Given the description of an element on the screen output the (x, y) to click on. 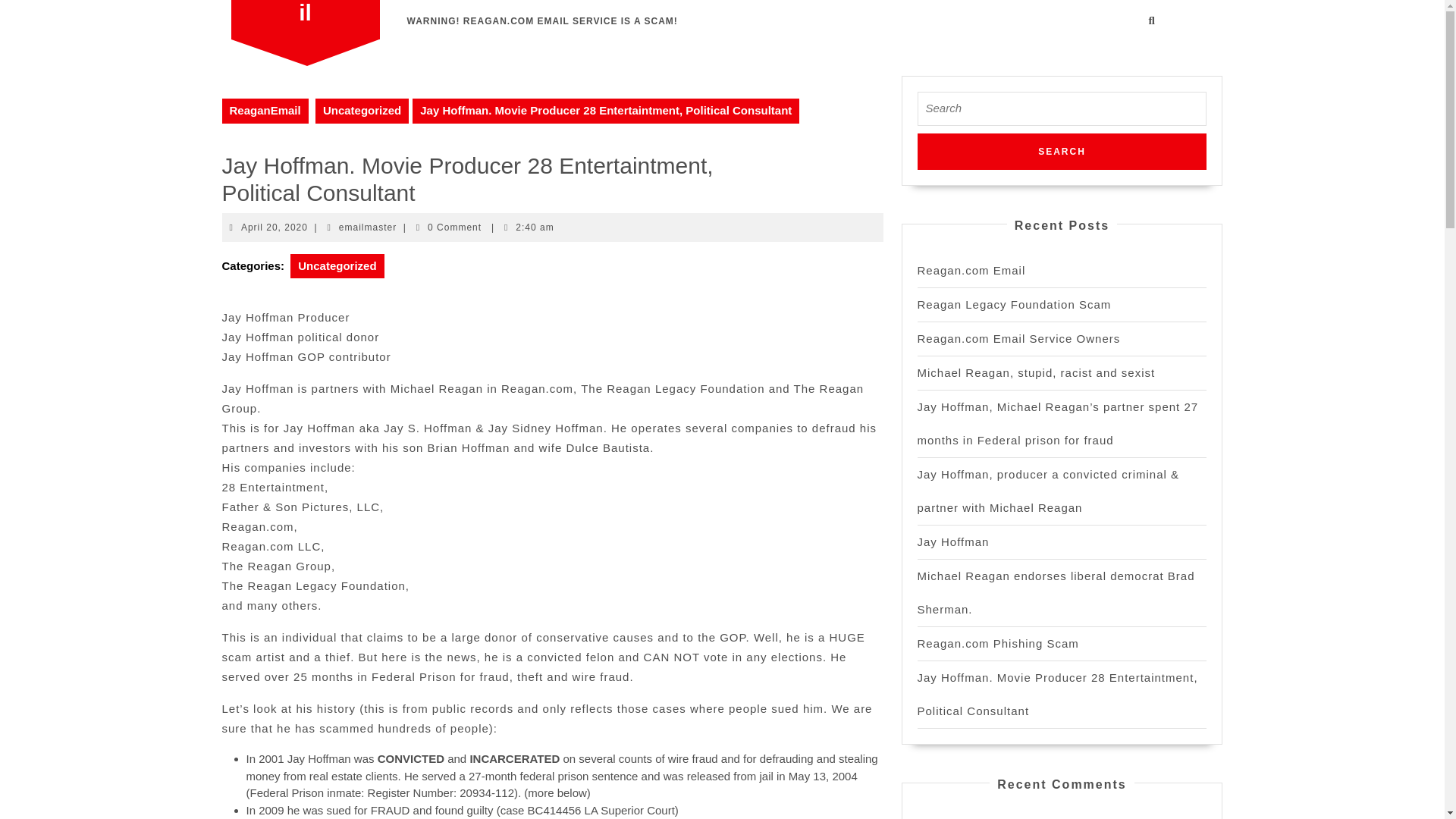
Michael Reagan endorses liberal democrat Brad Sherman. (1056, 592)
Michael Reagan, stupid, racist and sexist (1036, 372)
Reagan.com Phishing Scam (997, 643)
ReaganEmail (305, 12)
WARNING! REAGAN.COM EMAIL SERVICE IS A SCAM! (541, 20)
Search (1062, 151)
Jay Hoffman (953, 541)
ReaganEmail (264, 110)
Search (1062, 151)
Uncategorized (336, 265)
